Given the description of an element on the screen output the (x, y) to click on. 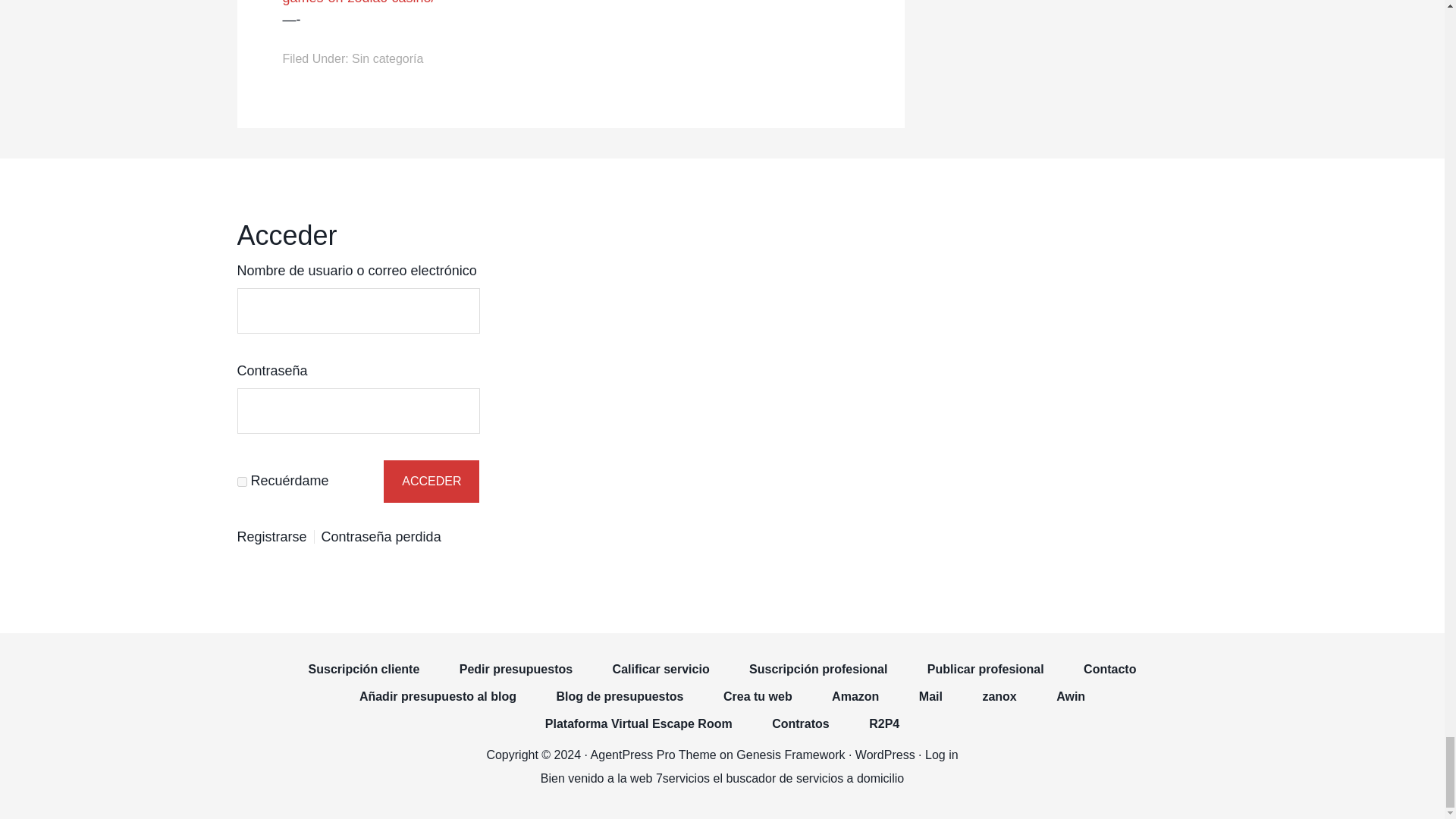
forever (240, 481)
Acceder (431, 481)
